Given the description of an element on the screen output the (x, y) to click on. 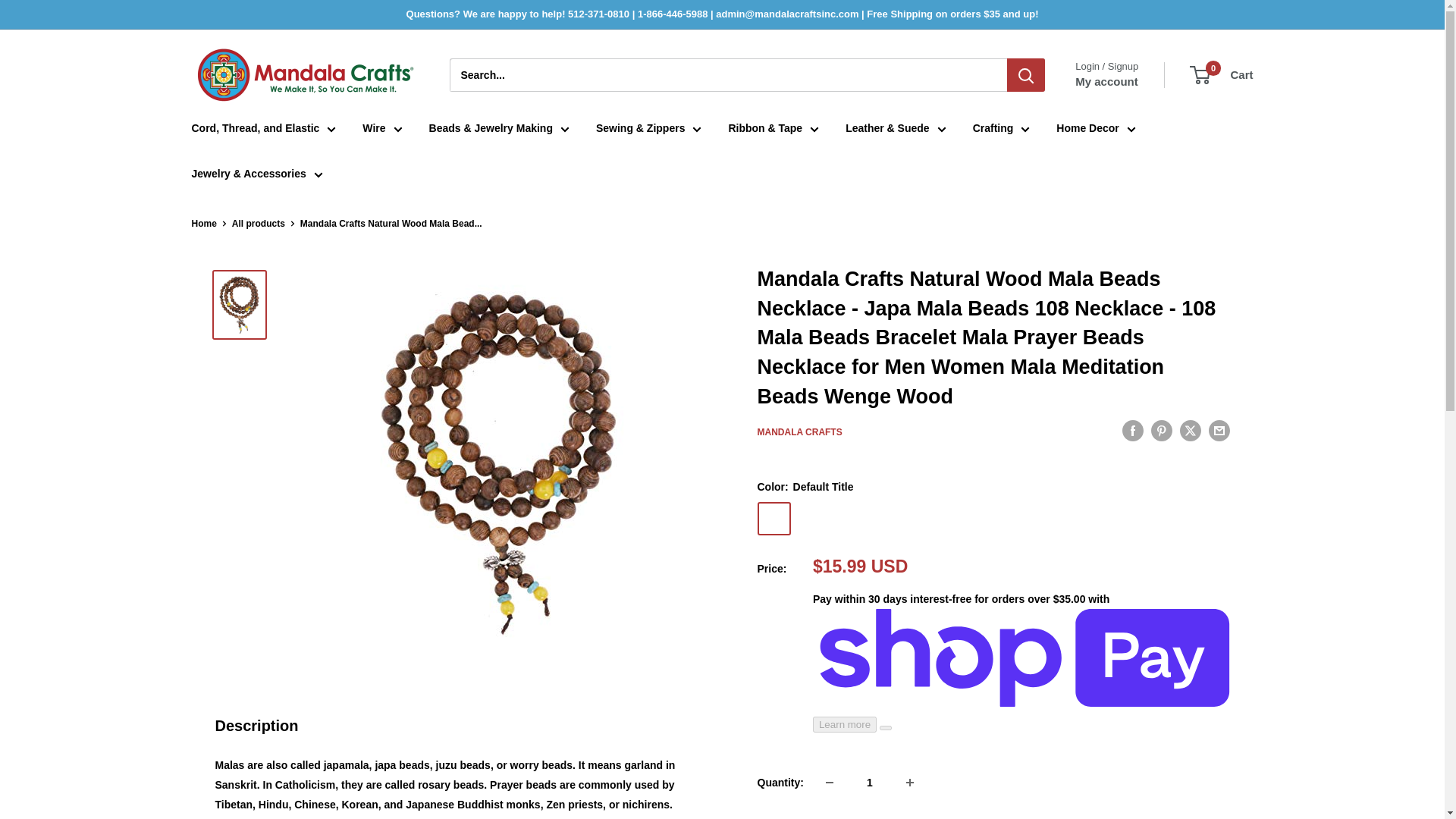
Decrease quantity by 1 (829, 782)
Increase quantity by 1 (909, 782)
1 (869, 782)
Default Title (773, 518)
